Given the description of an element on the screen output the (x, y) to click on. 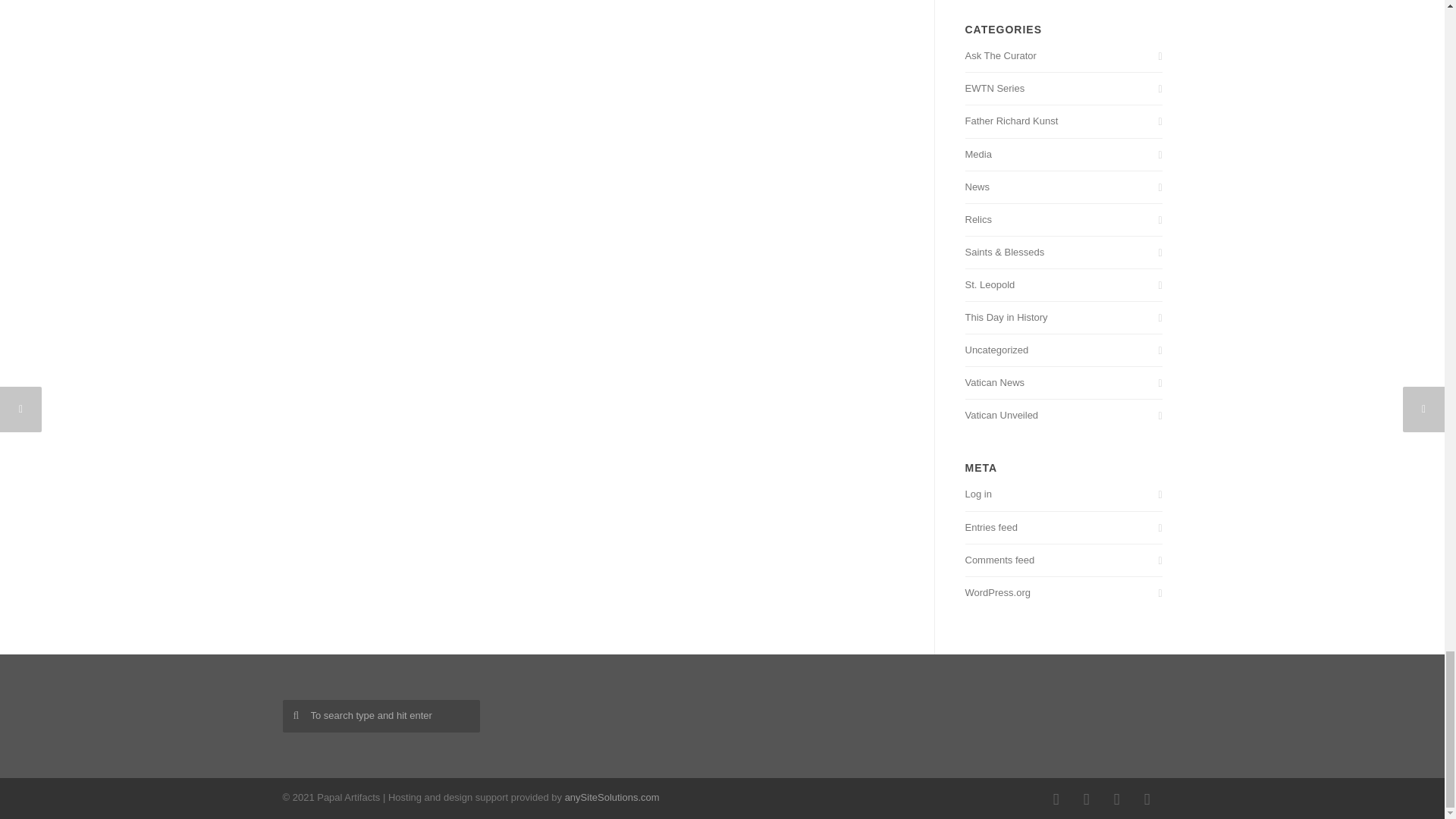
RSS (1115, 798)
To search type and hit enter (380, 716)
YouTube (1146, 798)
Facebook (1055, 798)
